Given the description of an element on the screen output the (x, y) to click on. 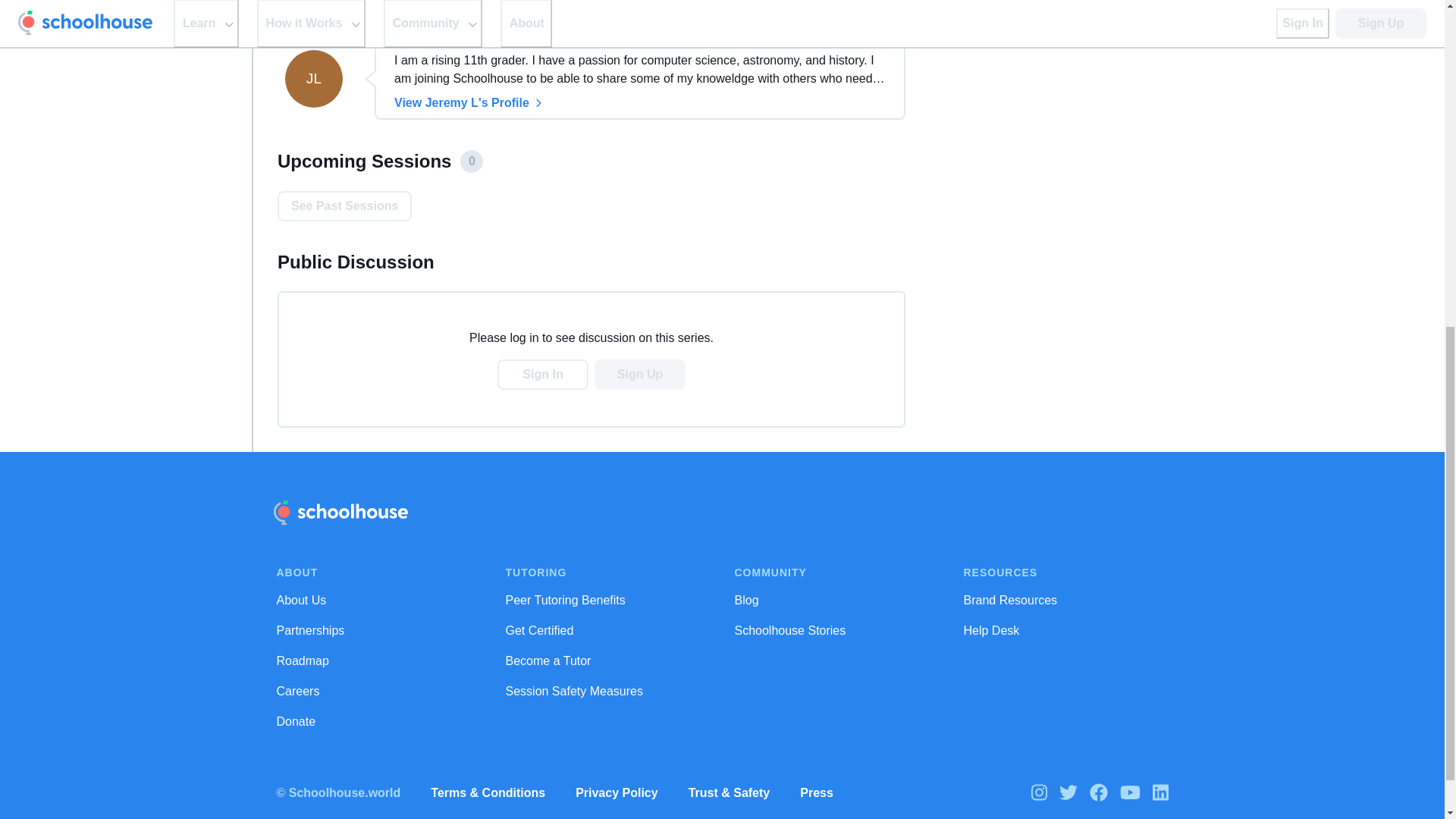
Schoolhouse.world: peer tutoring, for free. (340, 512)
